Given the description of an element on the screen output the (x, y) to click on. 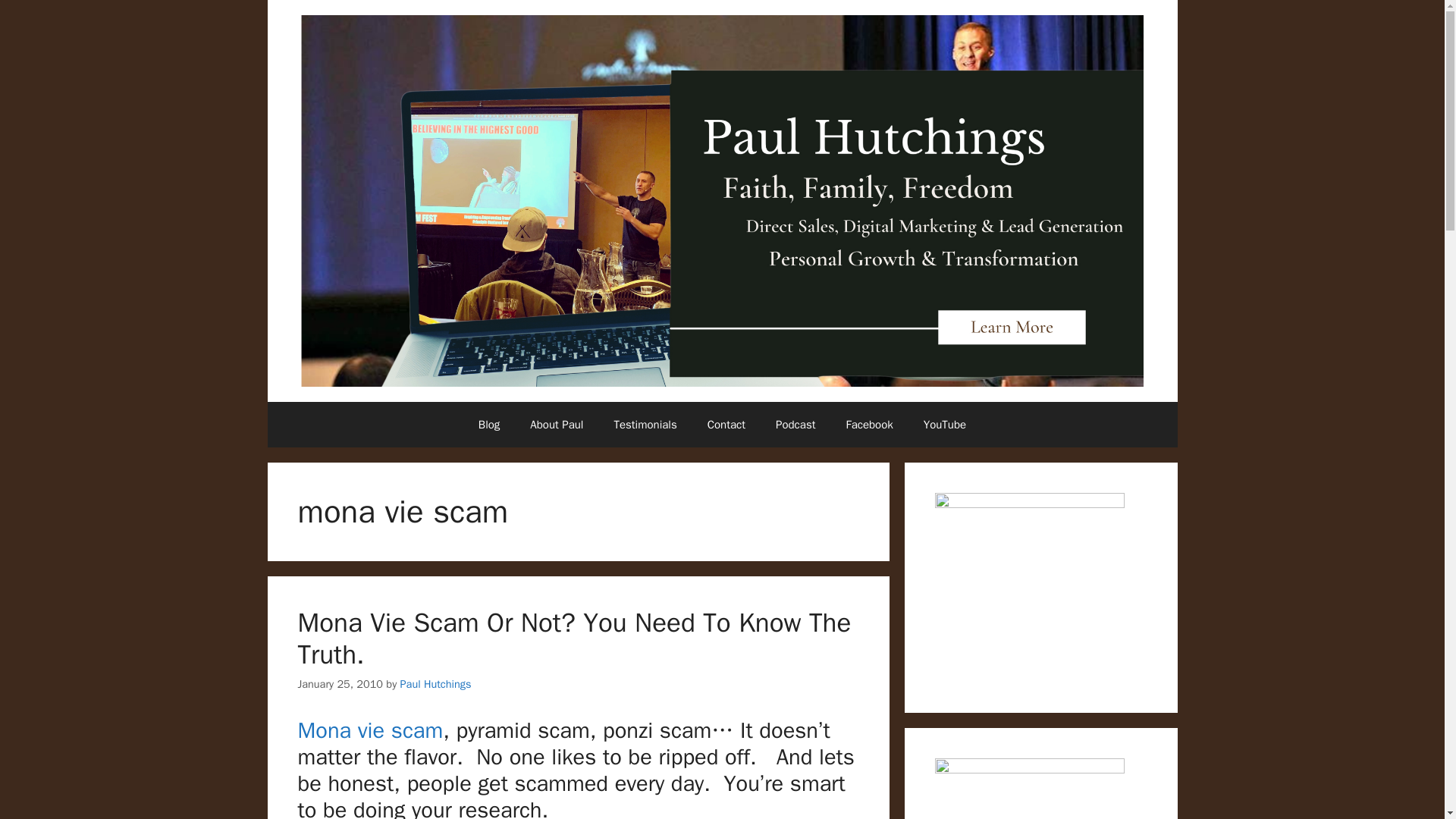
About Paul (556, 424)
View all posts by Paul Hutchings (435, 684)
Paul Hutchings (435, 684)
Facebook (868, 424)
Testimonials (644, 424)
Contact (726, 424)
YouTube (944, 424)
Mona Vie Scam Or Not? You Need To Know The Truth. (573, 638)
Blog (489, 424)
Mona vie scam (369, 730)
